Given the description of an element on the screen output the (x, y) to click on. 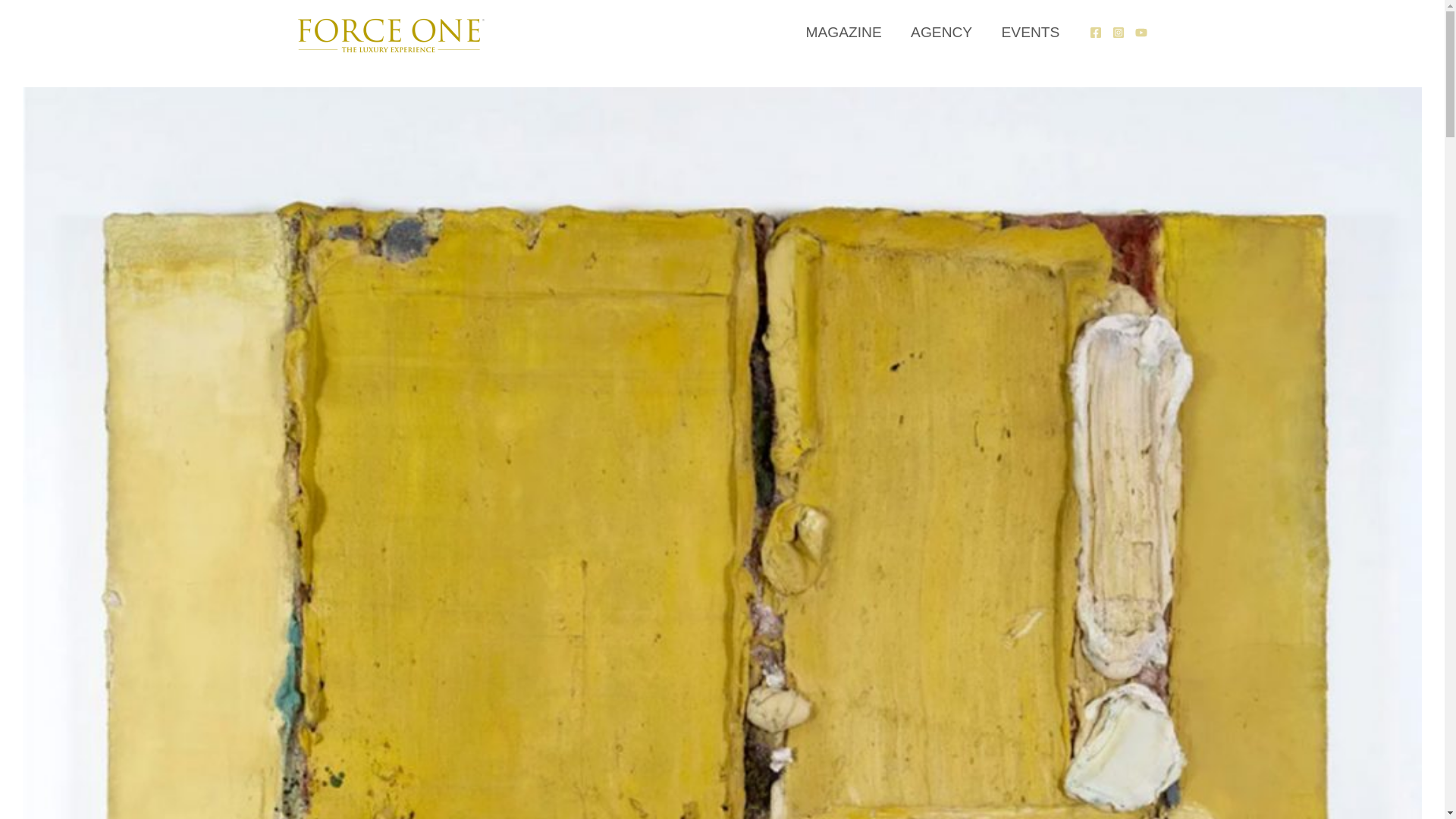
MAGAZINE (843, 31)
EVENTS (1030, 31)
AGENCY (941, 31)
